Given the description of an element on the screen output the (x, y) to click on. 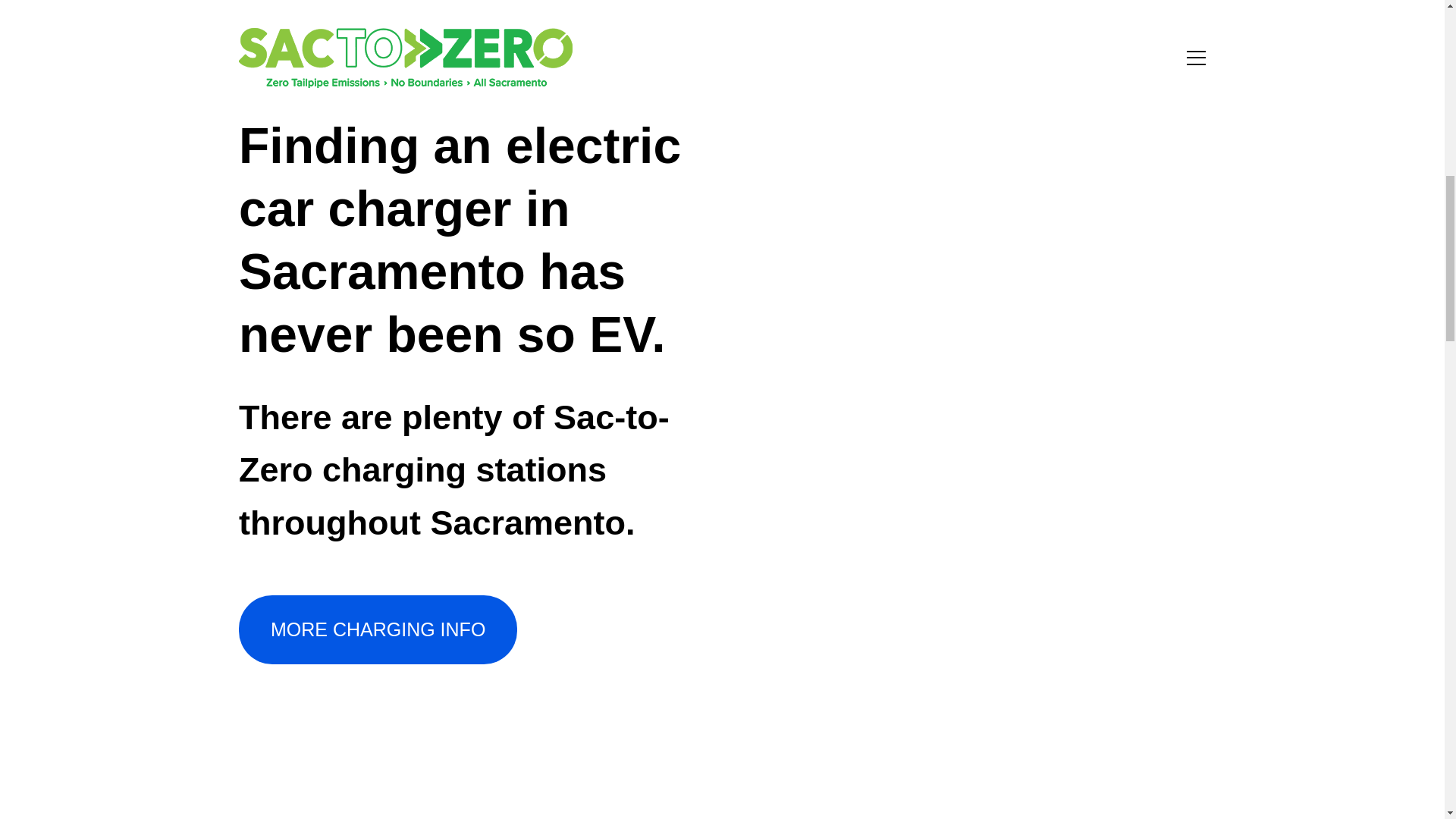
MORE CHARGING INFO (377, 629)
